Given the description of an element on the screen output the (x, y) to click on. 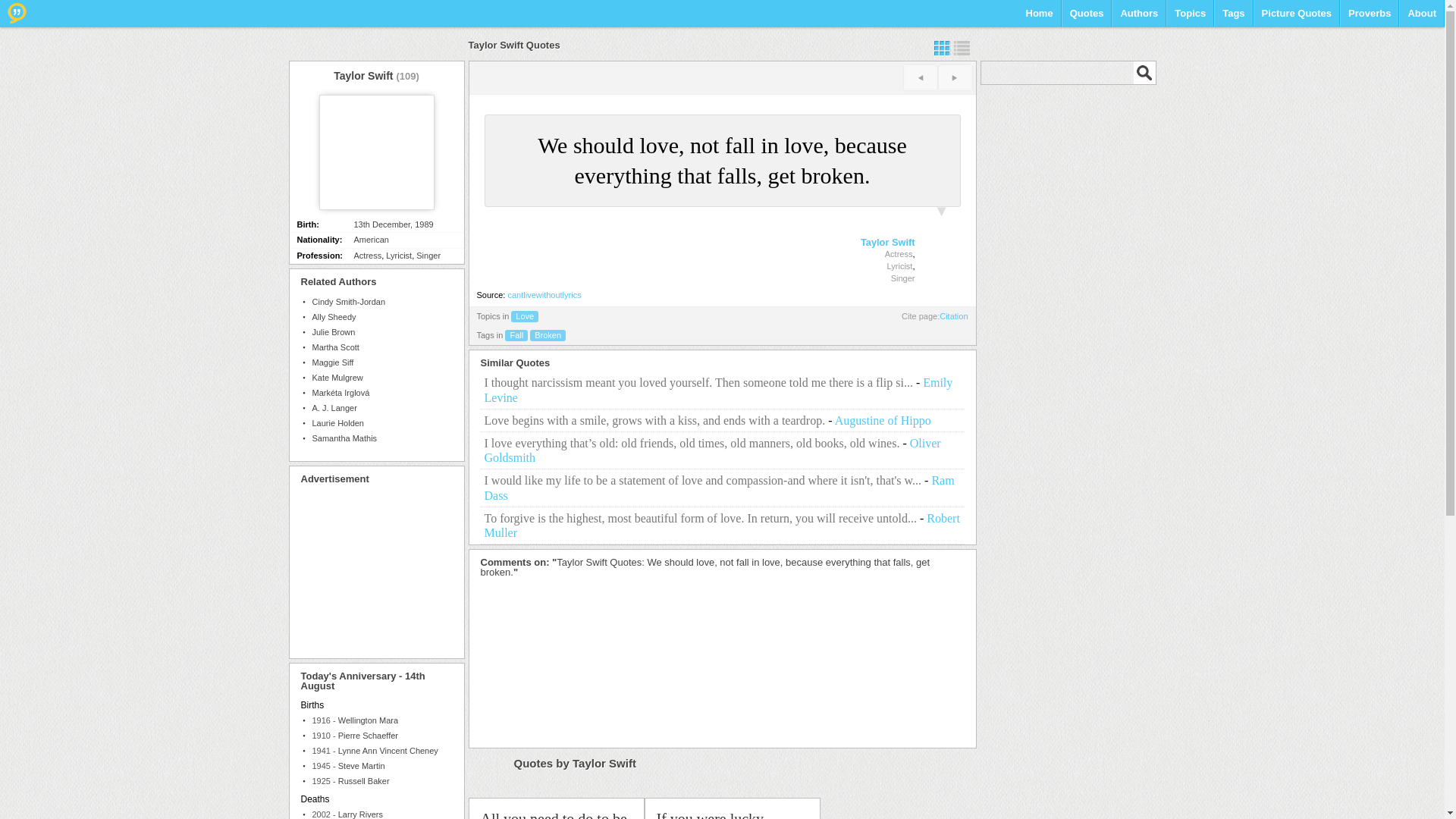
Quotes (1086, 18)
Home (1039, 18)
Quotes (1086, 18)
Search (1144, 72)
Browse by Authors (1138, 18)
Home (1039, 18)
Topics (1189, 18)
Authors (1138, 18)
Go to Home (16, 13)
